Given the description of an element on the screen output the (x, y) to click on. 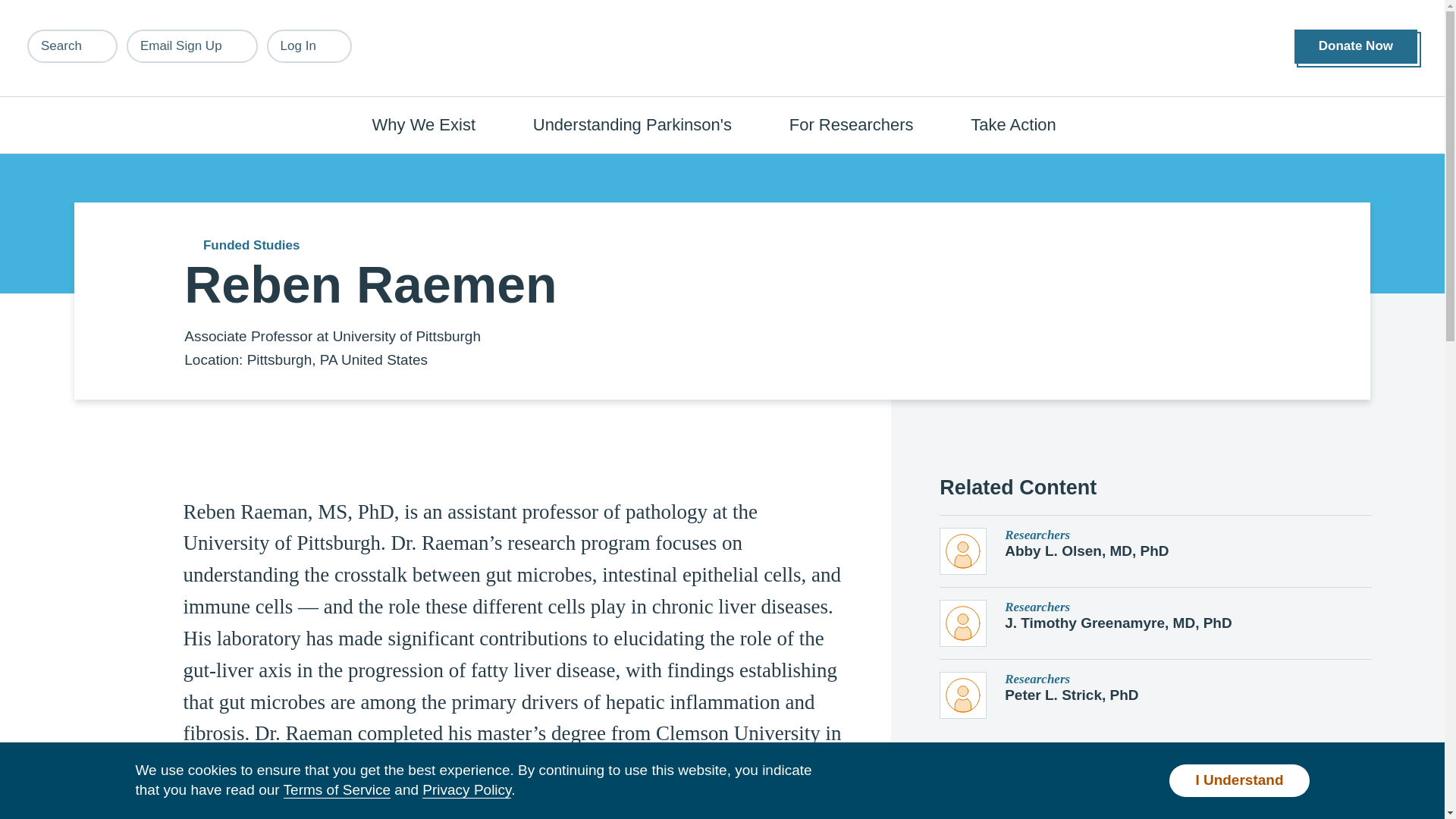
Email Sign Up (191, 46)
Log In (309, 46)
Skip to main content (96, 7)
Donate Now (1355, 46)
Home Page (722, 48)
Why We Exist (432, 125)
Search (72, 46)
Understanding Parkinson's (640, 125)
